Given the description of an element on the screen output the (x, y) to click on. 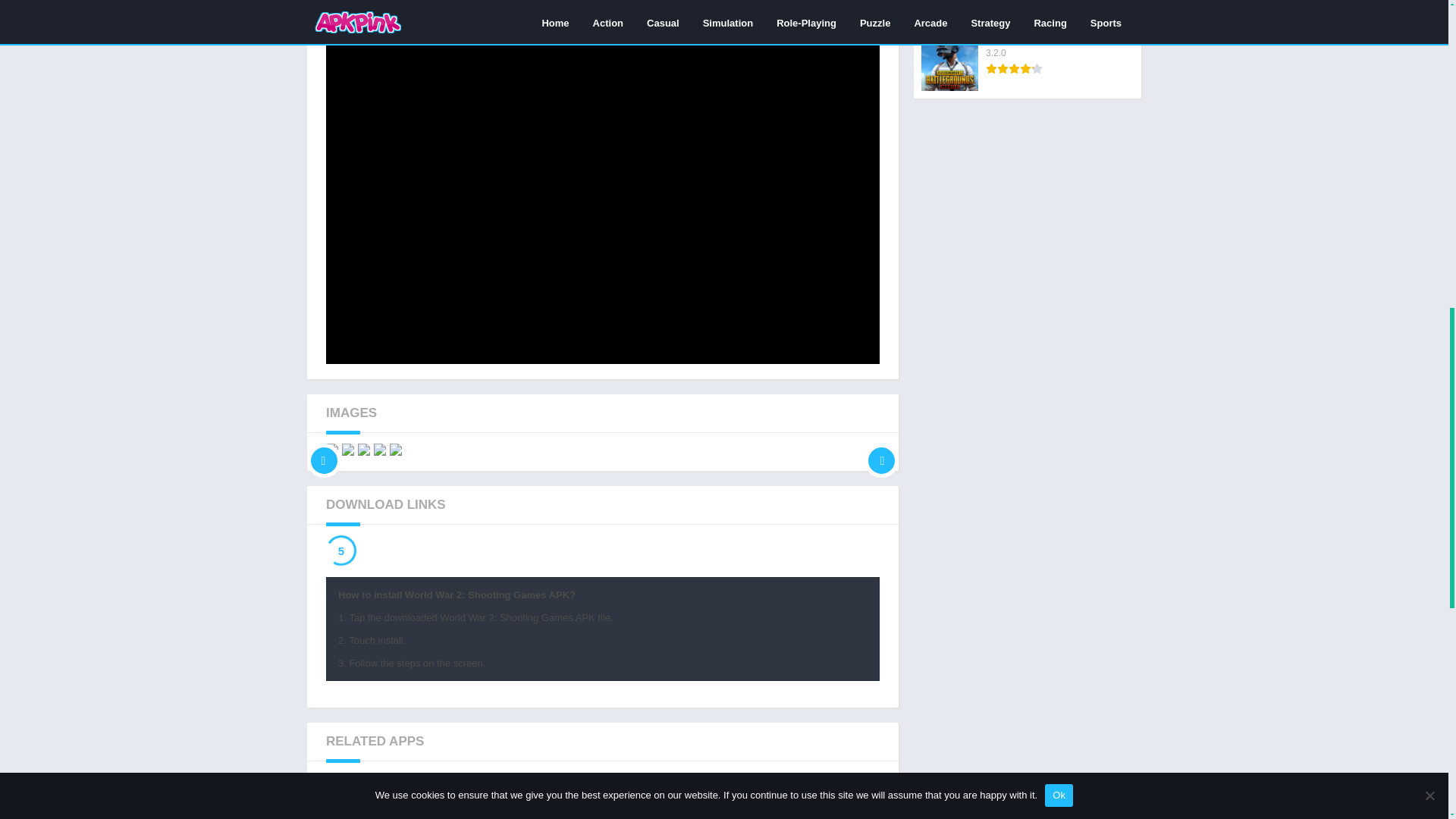
Battlegrounds Mobile India (715, 799)
Battlegrounds Mobile India 7 (602, 799)
Ninja Must Die 4 (488, 799)
Sniper Zombies: Offline Games 6 (829, 799)
Sniper Zombies: Offline Games (829, 799)
Zombie Hunter: Offline Games (488, 799)
Next (715, 799)
Ninja Must Die (715, 799)
World War 2: Shooting Games 2 (602, 799)
Zombie Hunter: Offline Games 5 (881, 449)
Dead Target: Zombie Games 3D (488, 799)
Previous (602, 4)
